Given the description of an element on the screen output the (x, y) to click on. 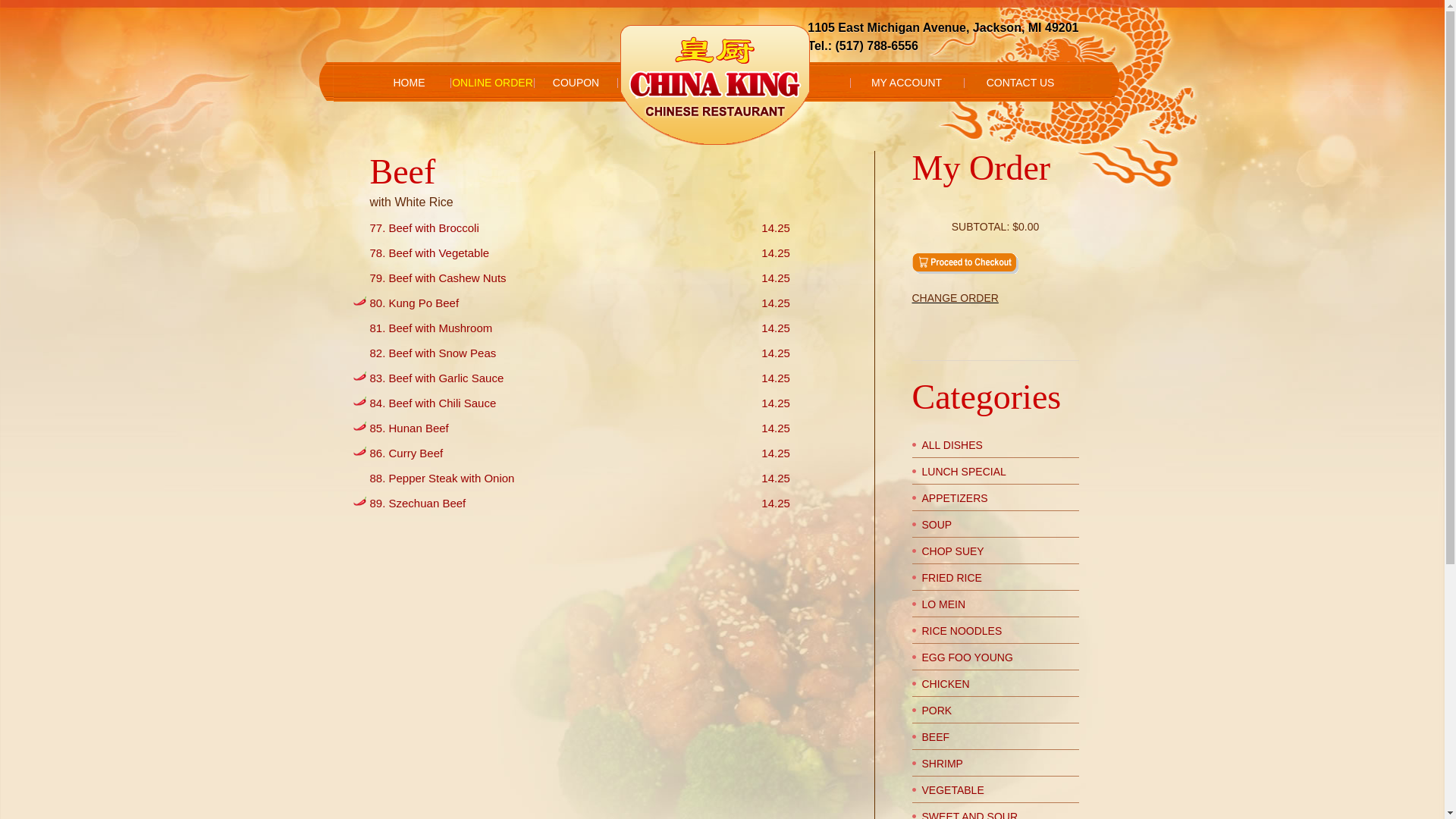
ONLINE ORDER Element type: text (491, 82)
LUNCH SPECIAL Element type: text (964, 471)
BEEF Element type: text (936, 737)
CHOP SUEY Element type: text (953, 551)
MY ACCOUNT Element type: text (906, 82)
COUPON Element type: text (575, 82)
HOME Element type: text (408, 82)
CONTACT US Element type: text (1019, 82)
APPETIZERS Element type: text (955, 498)
SOUP Element type: text (937, 524)
SHRIMP Element type: text (942, 763)
RICE NOODLES Element type: text (962, 630)
LO MEIN Element type: text (944, 604)
ALL DISHES Element type: text (952, 445)
CHANGE ORDER Element type: text (994, 297)
VEGETABLE Element type: text (953, 790)
FRIED RICE Element type: text (952, 577)
EGG FOO YOUNG Element type: text (967, 657)
PORK Element type: text (937, 710)
CHICKEN Element type: text (945, 683)
